Given the description of an element on the screen output the (x, y) to click on. 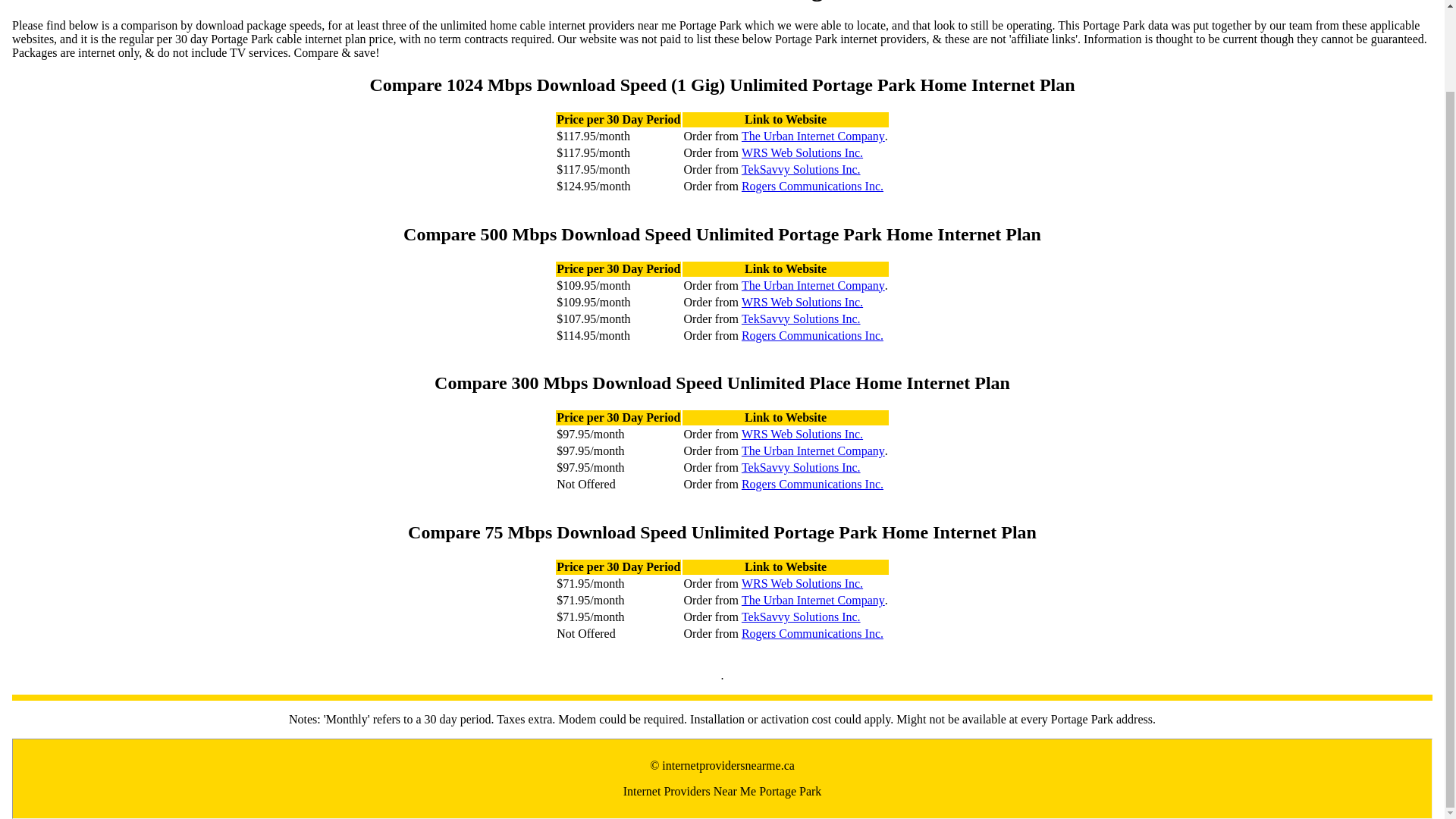
WRS Web Solutions Inc. (802, 583)
WRS Web Solutions Inc. (802, 152)
TekSavvy Solutions Inc. (800, 318)
WRS Web Solutions Inc. (802, 301)
Rogers Communications Inc. (812, 484)
TekSavvy Solutions Inc. (800, 468)
TekSavvy Solutions Inc. (800, 169)
WRS Web Solutions Inc. (802, 434)
The Urban Internet Company (813, 136)
The Urban Internet Company (813, 284)
Rogers Communications Inc. (812, 186)
The Urban Internet Company (813, 600)
Rogers Communications Inc. (812, 335)
Rogers Communications Inc. (812, 633)
The Urban Internet Company (813, 450)
